Given the description of an element on the screen output the (x, y) to click on. 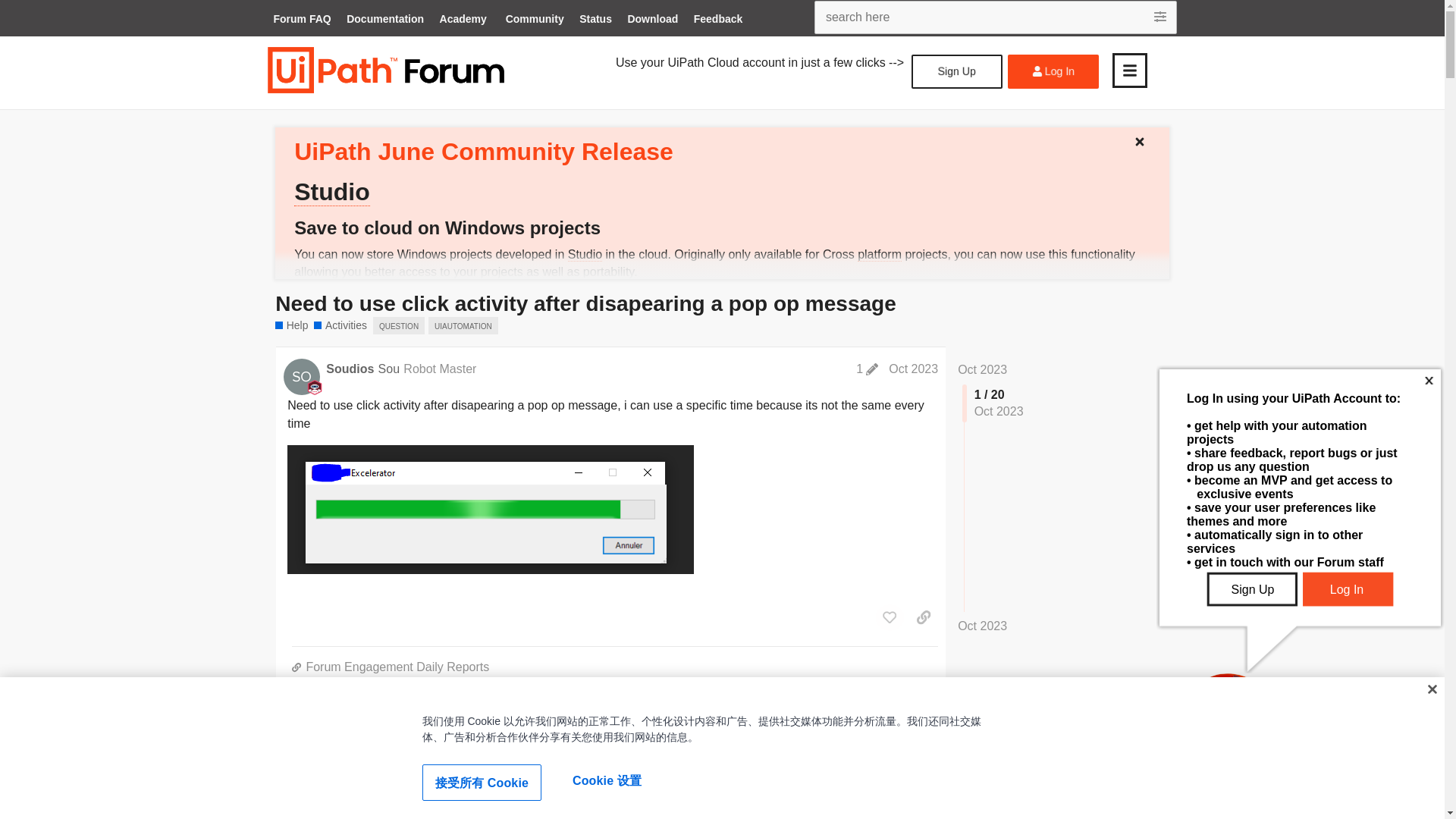
Dismiss this banner (1145, 137)
Documentation (384, 20)
Academy (463, 20)
Open advanced search (1161, 17)
menu (1129, 69)
Forum FAQ (301, 20)
